Given the description of an element on the screen output the (x, y) to click on. 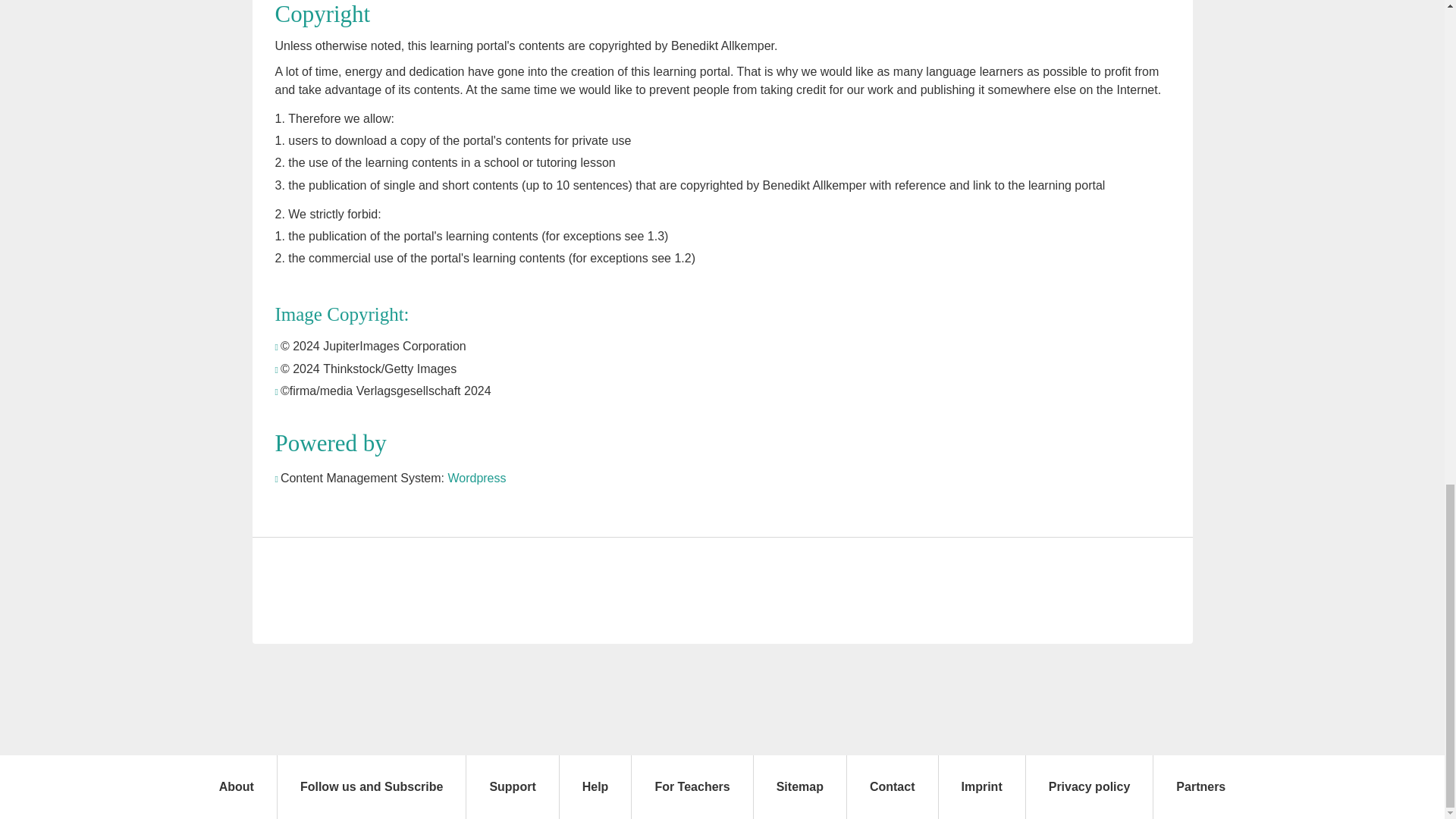
Advertisement (722, 590)
